Given the description of an element on the screen output the (x, y) to click on. 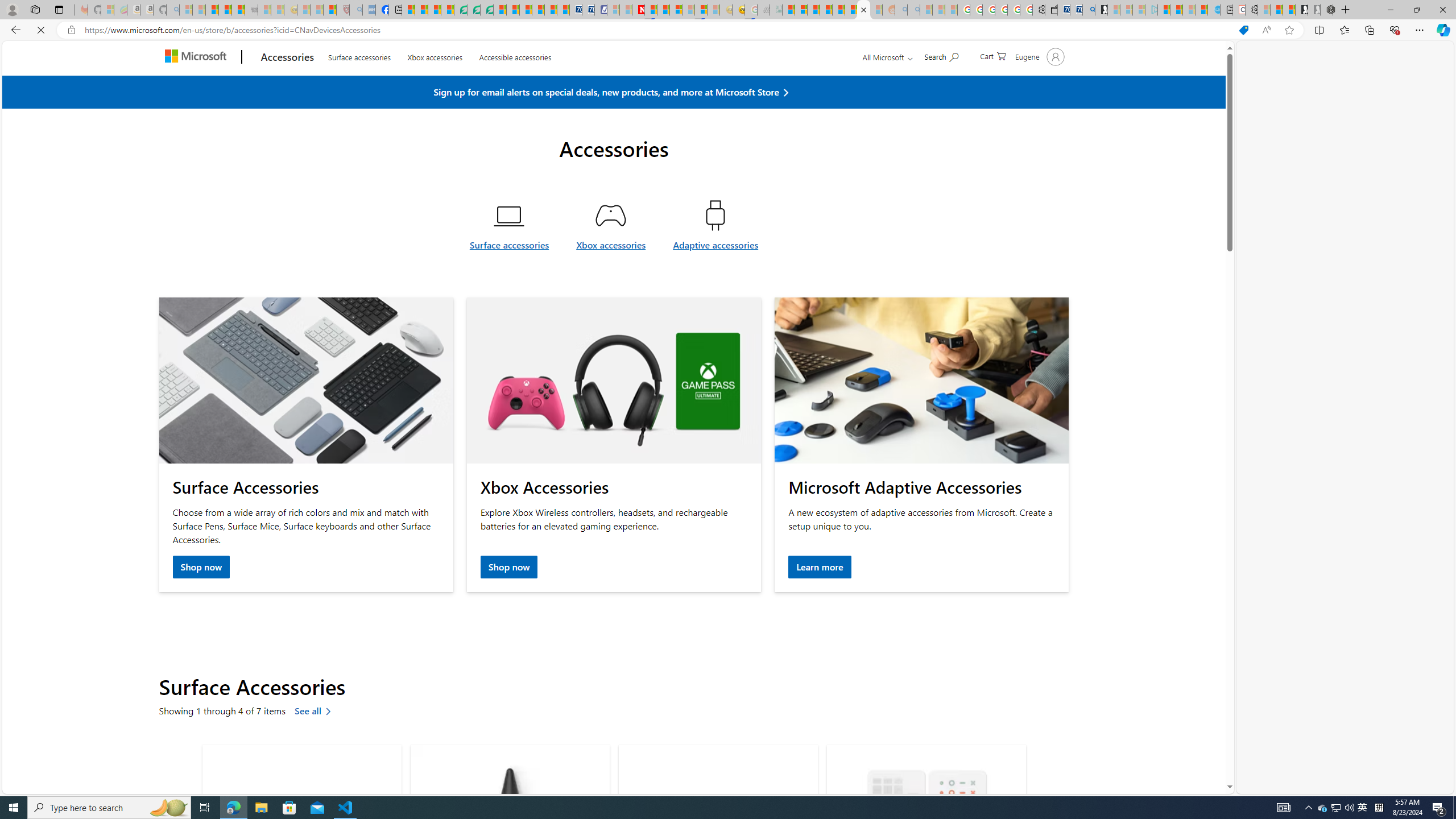
Account manager for Eugene (1037, 83)
Adaptive accessories (715, 225)
Accessories (287, 83)
Accessible accessories (514, 82)
